Given the description of an element on the screen output the (x, y) to click on. 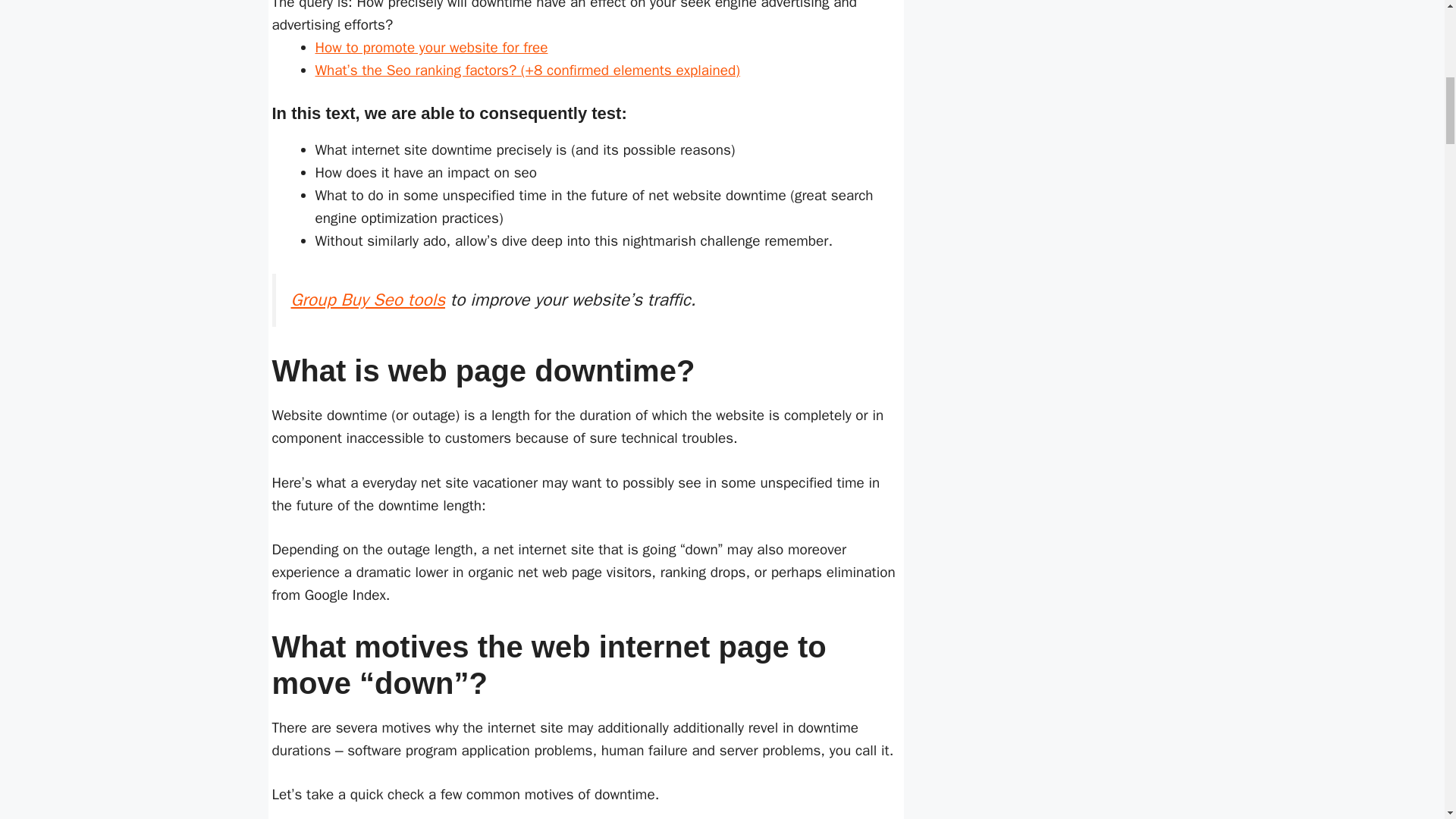
How to promot (361, 47)
Group Buy Seo tools (368, 300)
e your website for free (477, 47)
